Given the description of an element on the screen output the (x, y) to click on. 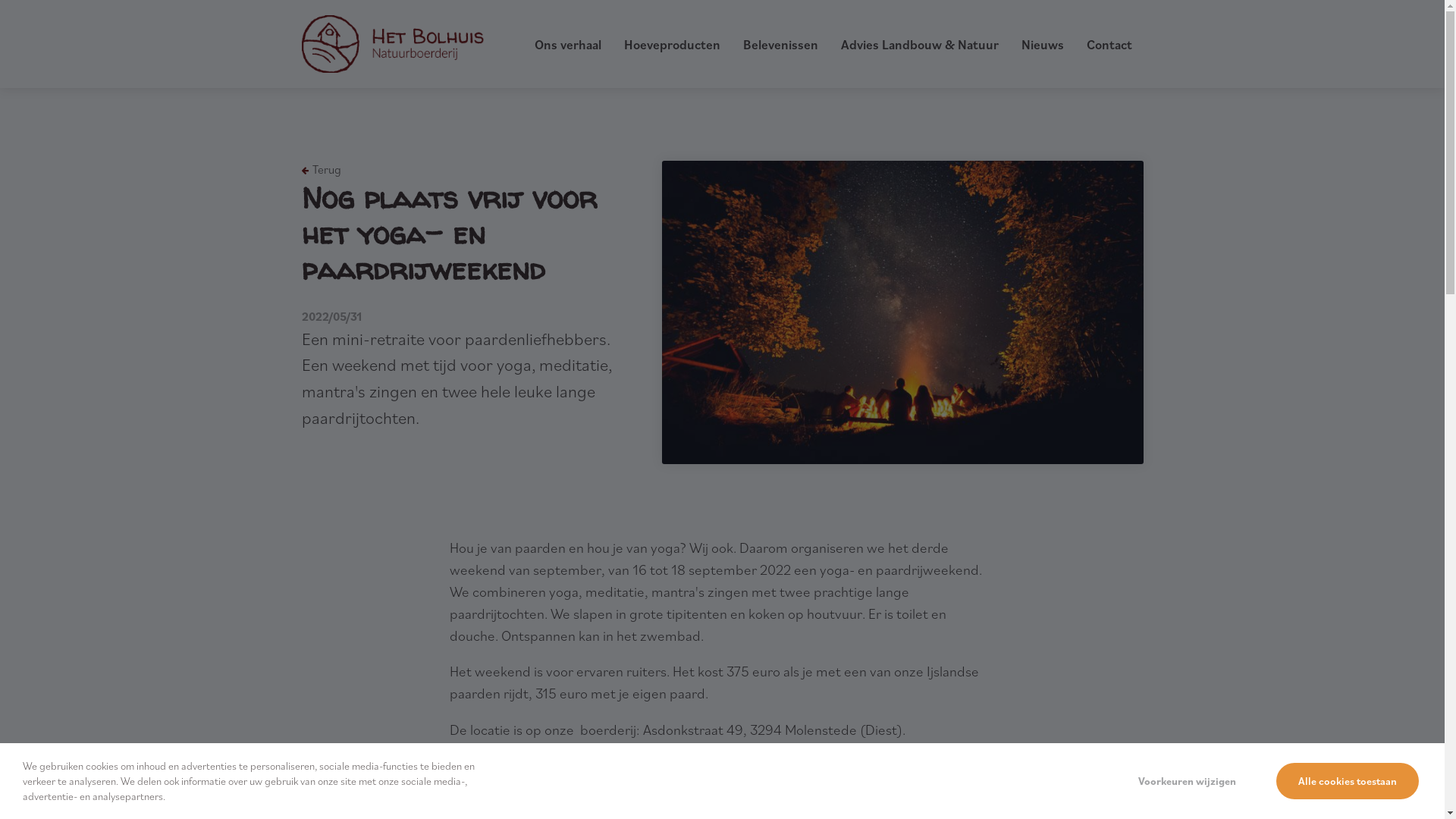
Nieuws Element type: text (1041, 44)
Terug Element type: text (321, 169)
Belevenissen Element type: text (780, 44)
Hoeveproducten Element type: text (671, 44)
Ons verhaal Element type: text (566, 44)
Advies Landbouw & Natuur Element type: text (918, 44)
Contact Element type: text (1108, 44)
